Given the description of an element on the screen output the (x, y) to click on. 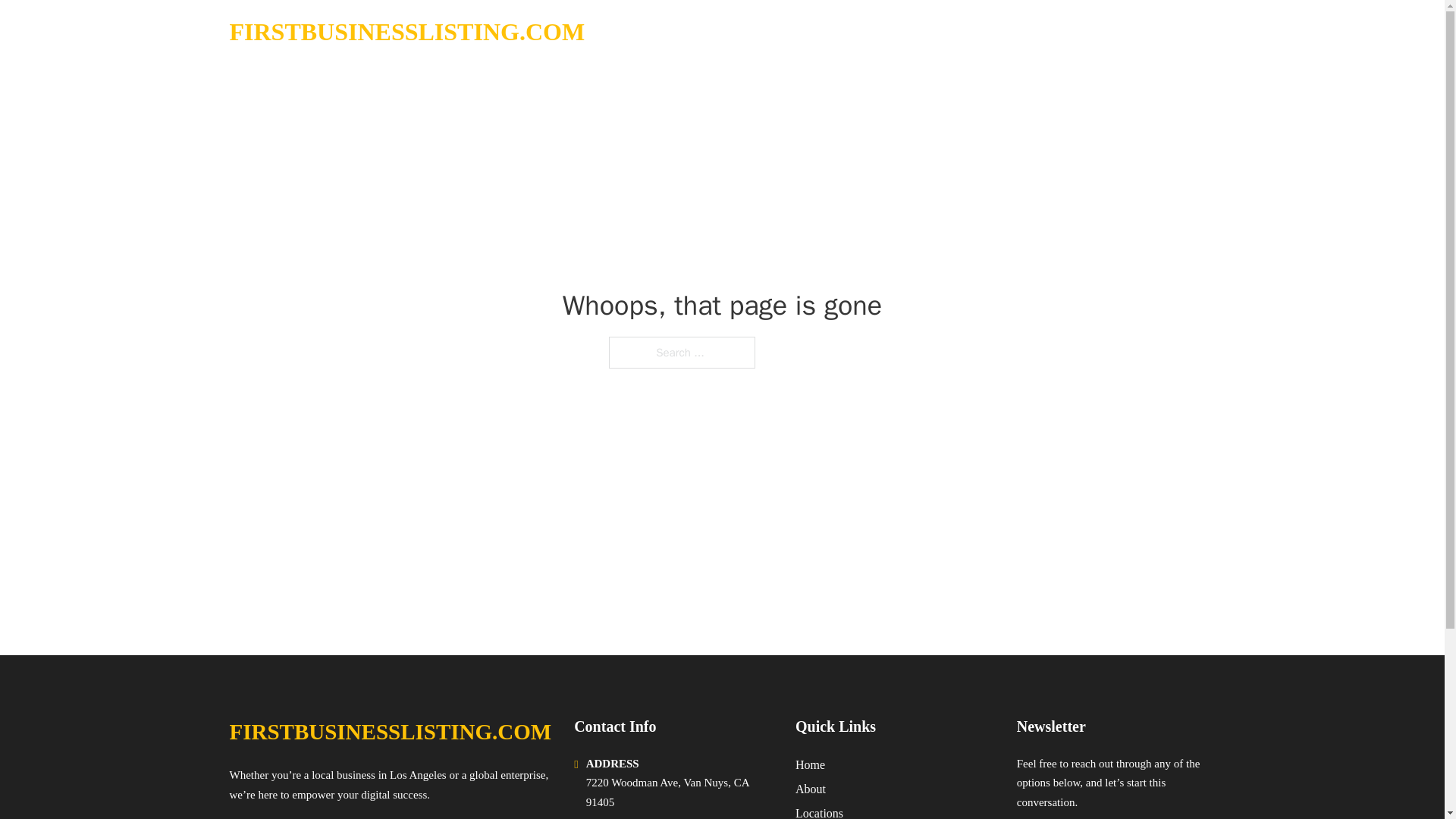
Home (809, 764)
FIRSTBUSINESSLISTING.COM (389, 732)
HOME (1025, 31)
FIRSTBUSINESSLISTING.COM (406, 31)
Locations (818, 811)
LOCATIONS (1098, 31)
About (809, 788)
